Given the description of an element on the screen output the (x, y) to click on. 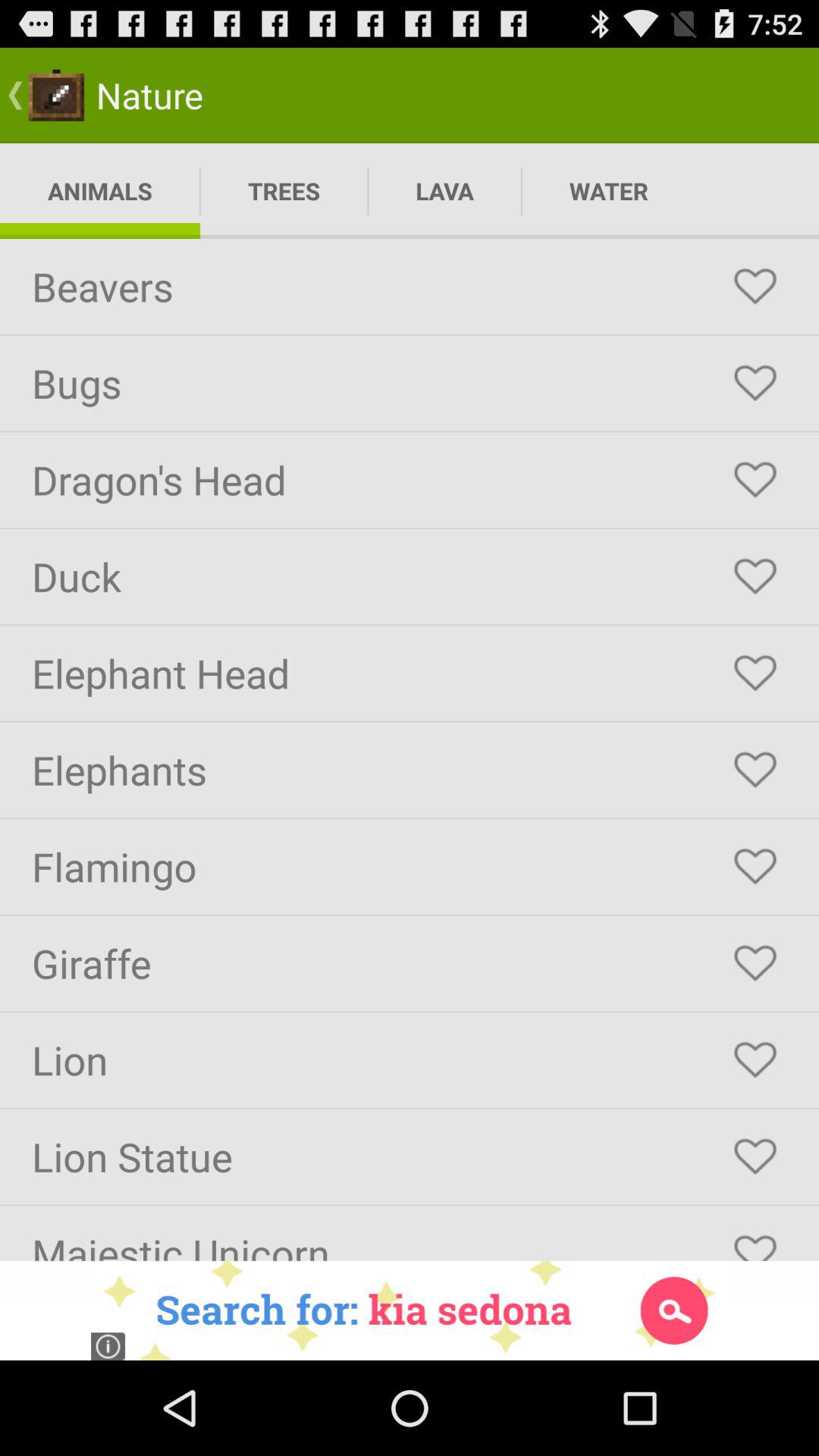
add to favorite (755, 1240)
